Given the description of an element on the screen output the (x, y) to click on. 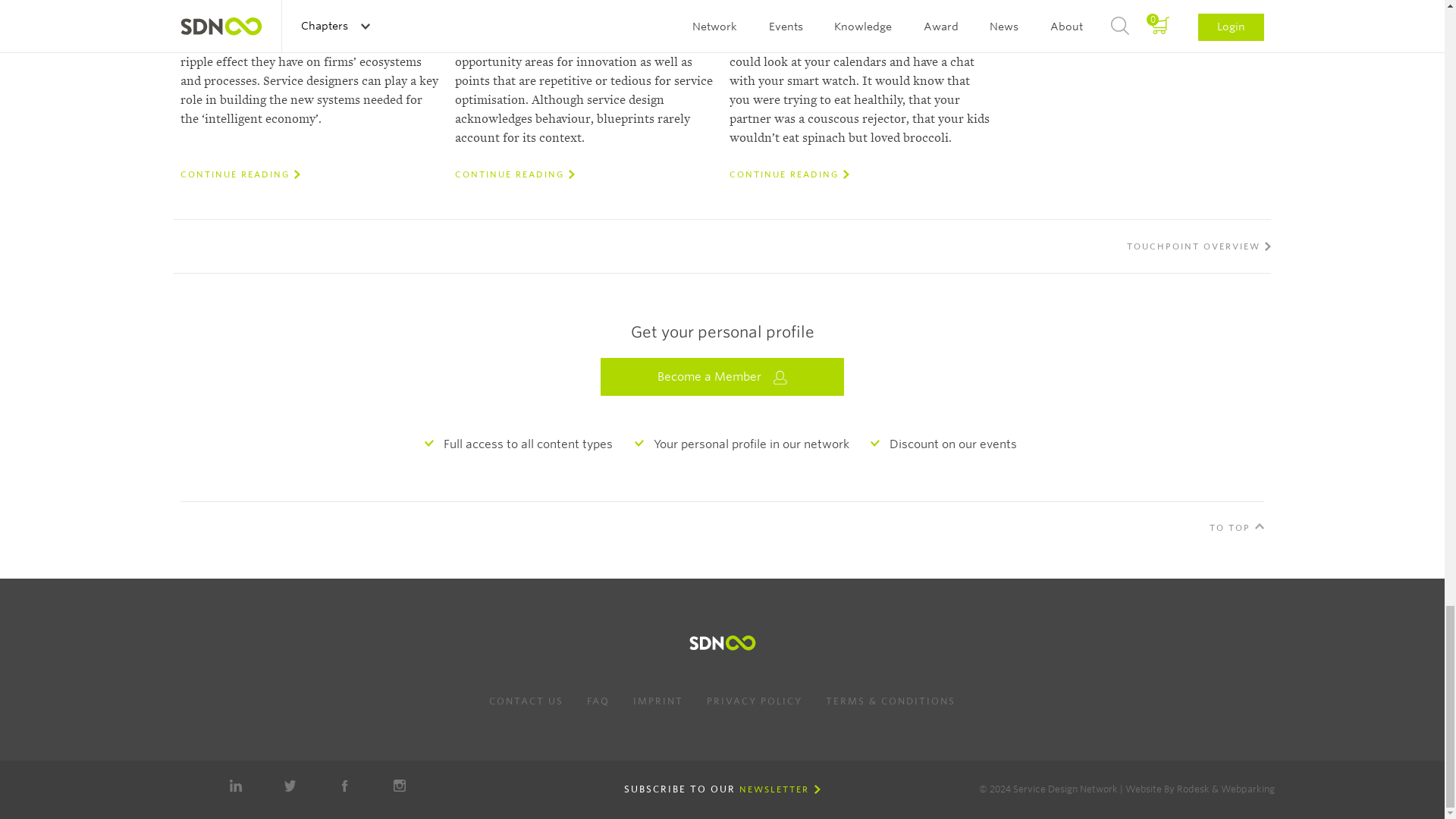
Contact us (526, 701)
TO TOP (1236, 539)
Imprint (657, 701)
Privacy Policy (754, 701)
FAQ (598, 701)
